Given the description of an element on the screen output the (x, y) to click on. 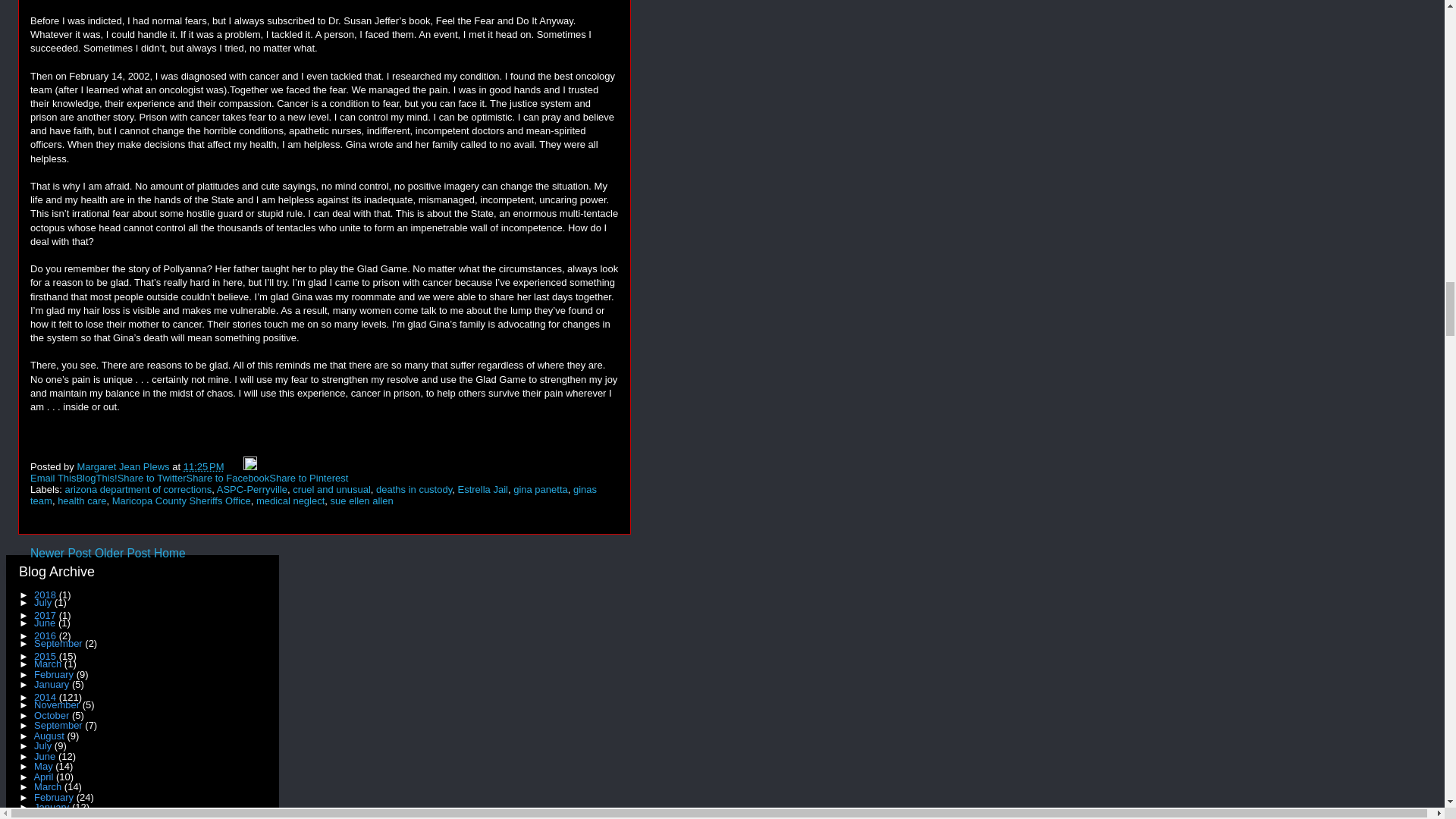
Maricopa County Sheriffs Office (181, 500)
sue ellen allen (361, 500)
Share to Twitter (151, 478)
Estrella Jail (481, 489)
ASPC-Perryville (251, 489)
Edit Post (250, 466)
deaths in custody (413, 489)
Share to Twitter (151, 478)
ginas team (313, 495)
Email This (52, 478)
Share to Facebook (227, 478)
Share to Pinterest (308, 478)
Share to Pinterest (308, 478)
Older Post (122, 553)
